Given the description of an element on the screen output the (x, y) to click on. 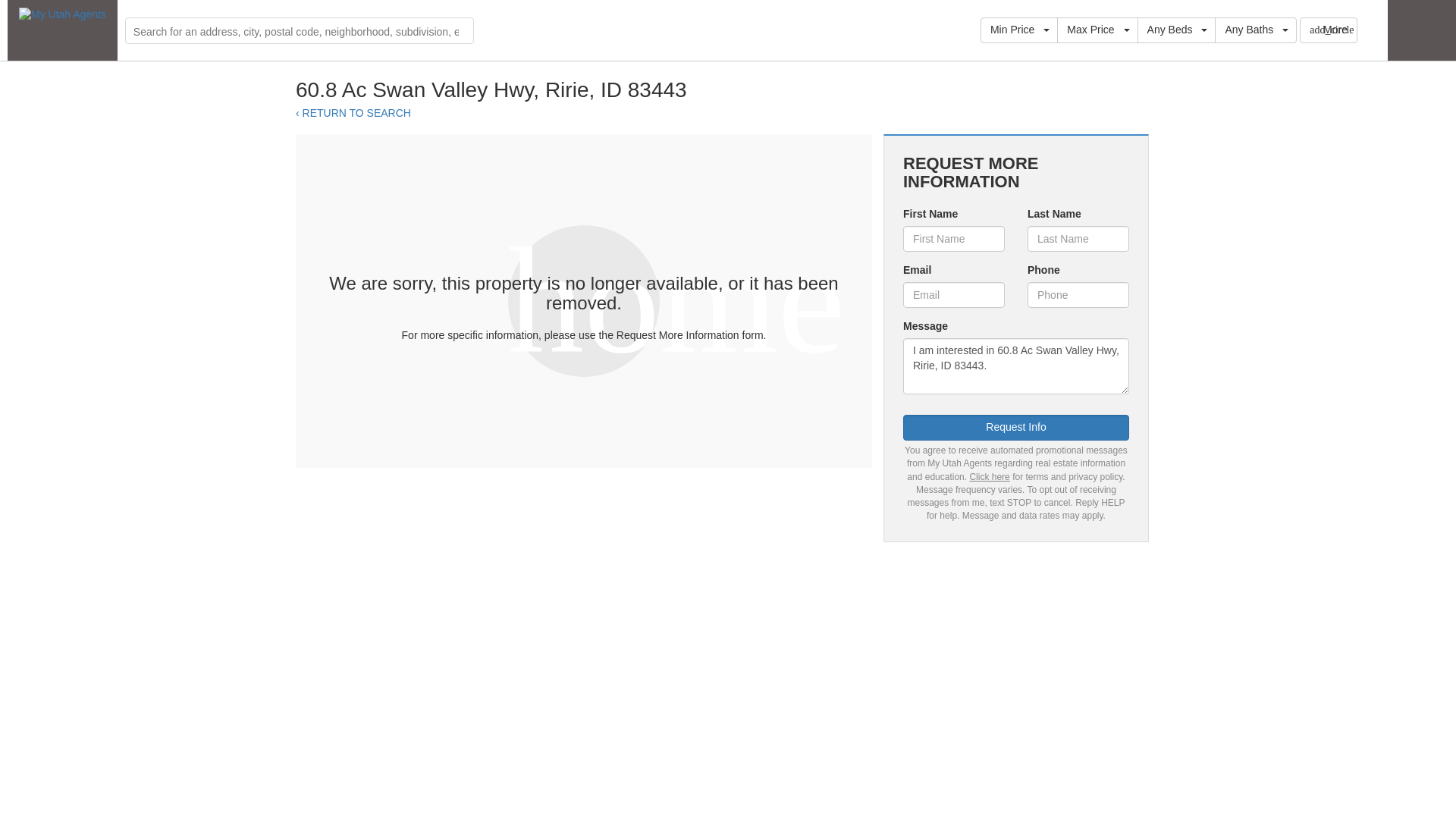
Min Price (1018, 30)
